Given the description of an element on the screen output the (x, y) to click on. 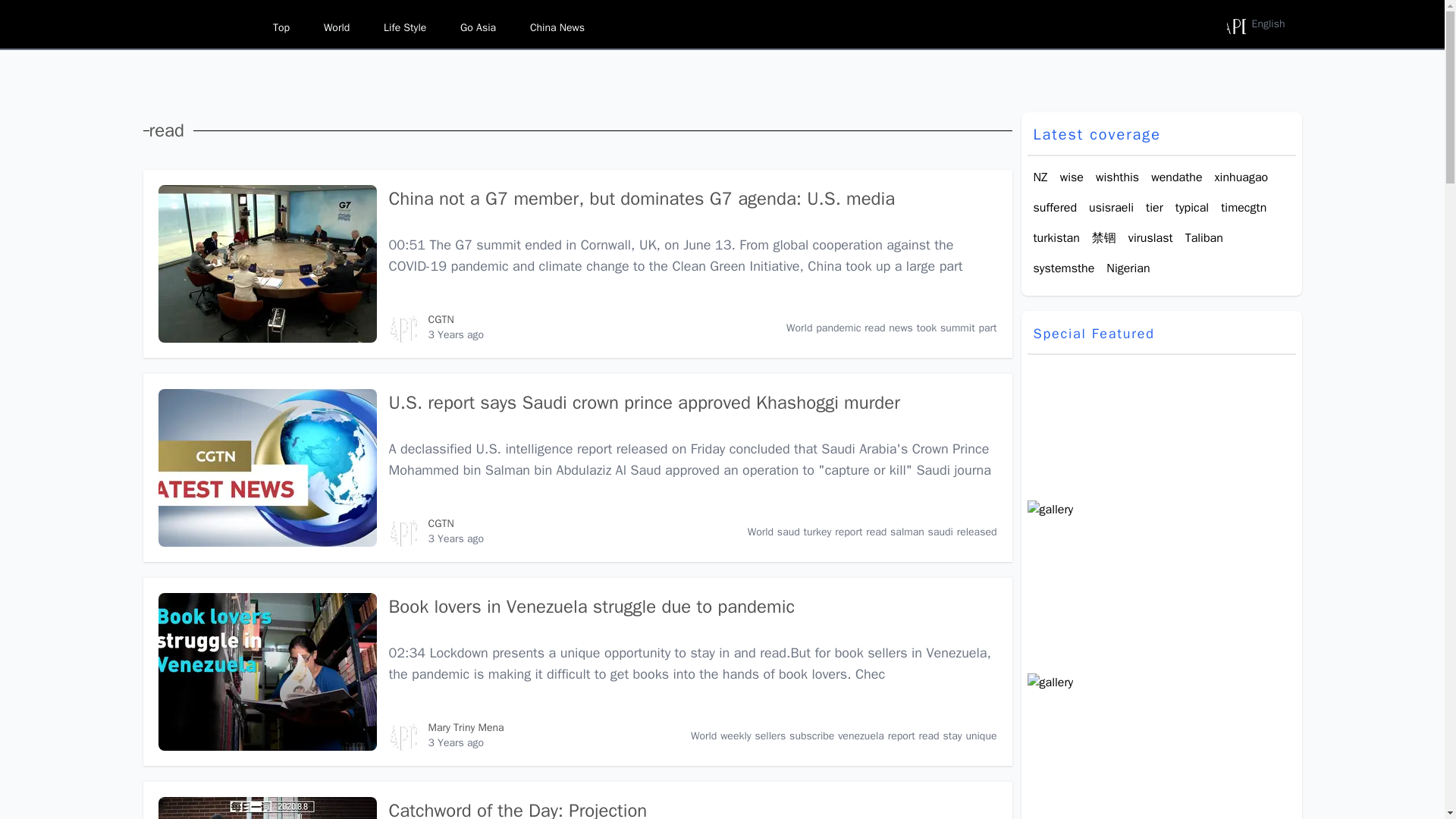
Top (280, 27)
Go Asia (478, 27)
World (760, 531)
China News (557, 27)
saudi (940, 531)
turkey (817, 531)
read (876, 531)
CGTN (440, 522)
part (986, 327)
China not a G7 member, but dominates G7 agenda: U.S. media (403, 327)
English (1255, 24)
saud (788, 531)
read (874, 327)
CGTN (440, 318)
